Given the description of an element on the screen output the (x, y) to click on. 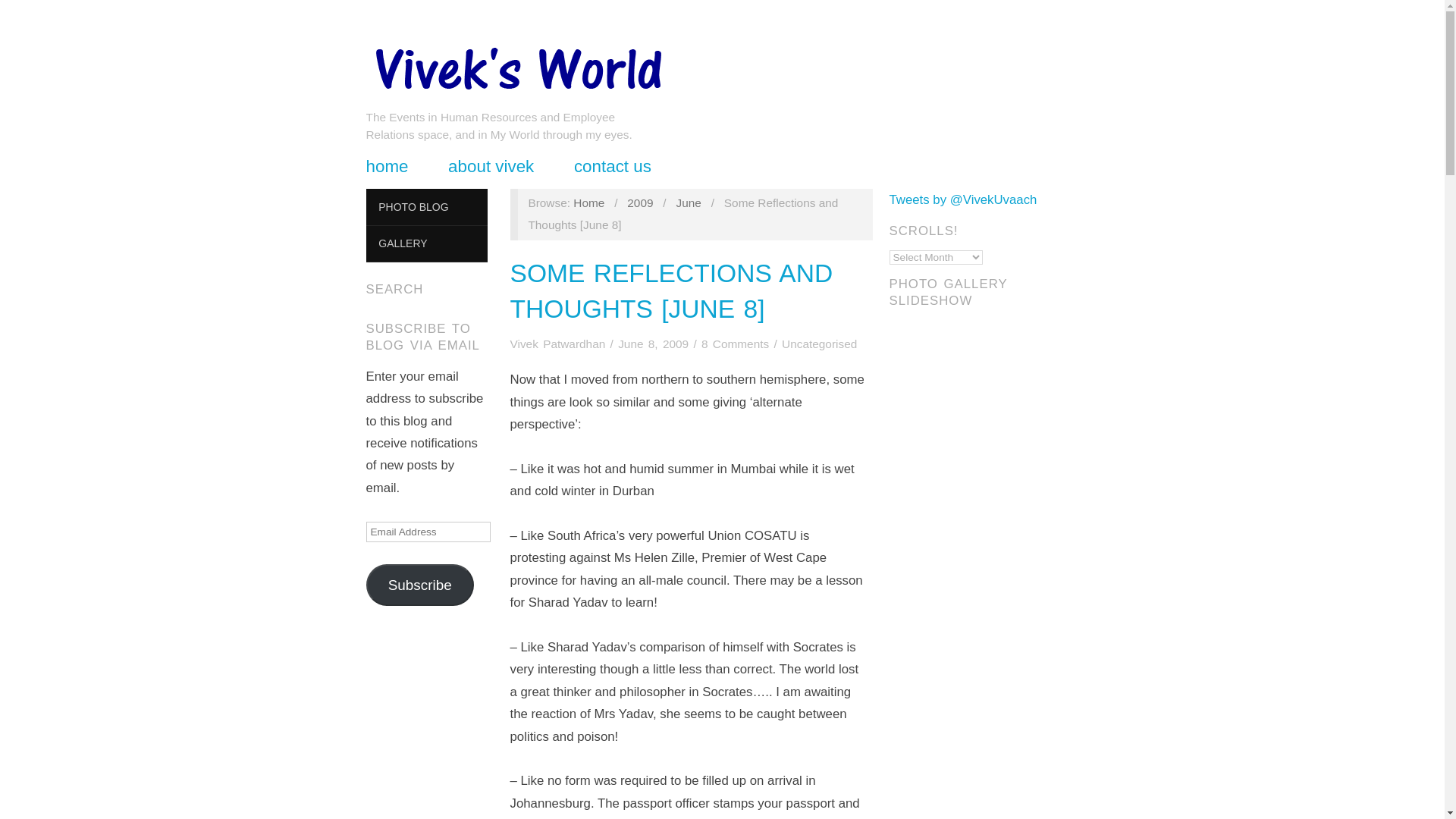
Vivek Patwardhan (588, 202)
2009 (639, 202)
Posts by Vivek Patwardhan (558, 343)
June 2009 (687, 202)
June (687, 202)
contact us (611, 166)
GALLERY (425, 244)
8 Comments (734, 343)
Vivek Patwardhan (558, 343)
June 8, 2009 (652, 343)
PHOTO BLOG (425, 207)
about vivek (491, 166)
Home (588, 202)
Subscribe (419, 585)
Vivek Patwardhan (516, 64)
